Given the description of an element on the screen output the (x, y) to click on. 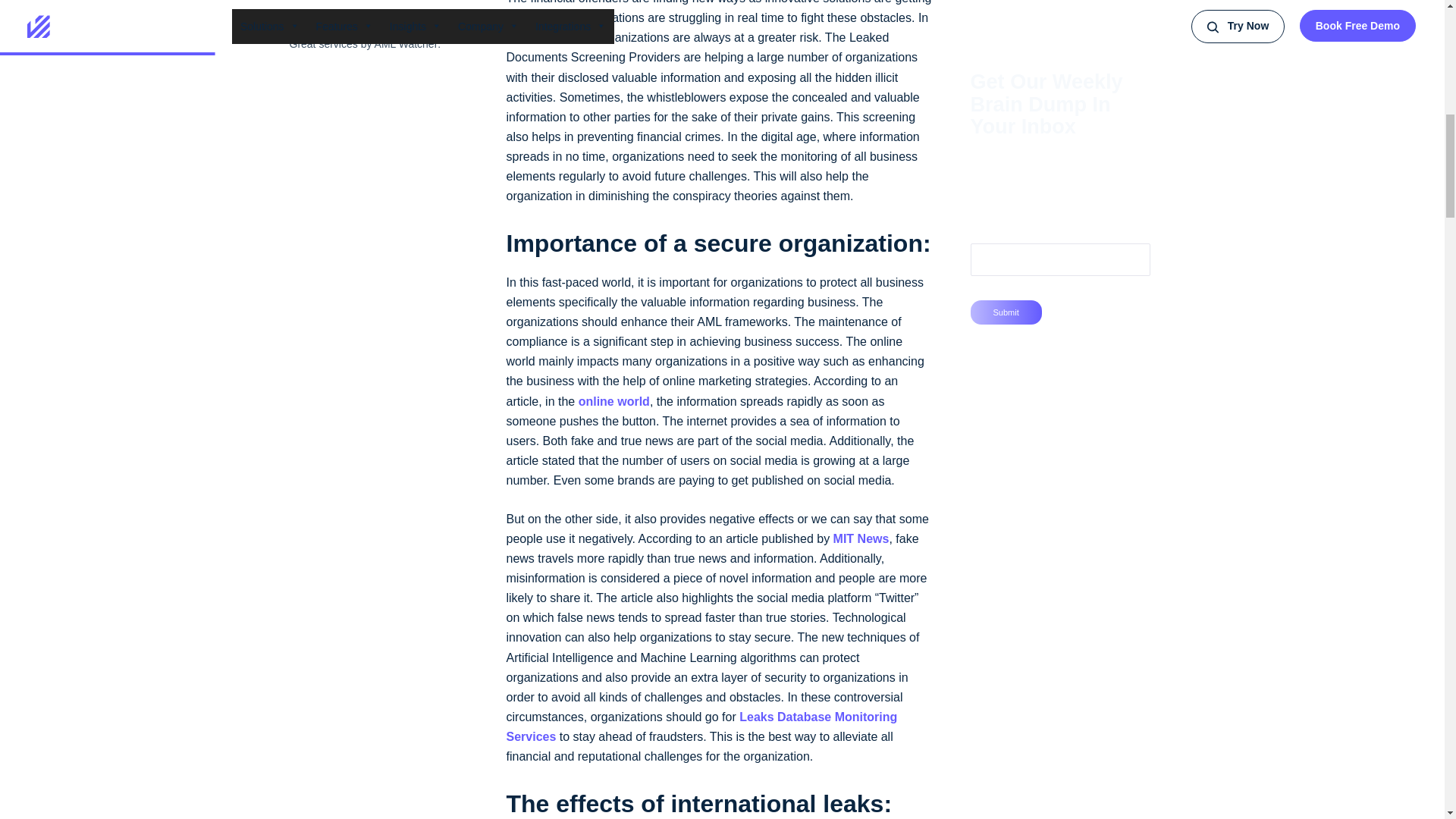
Submit (1006, 312)
